Given the description of an element on the screen output the (x, y) to click on. 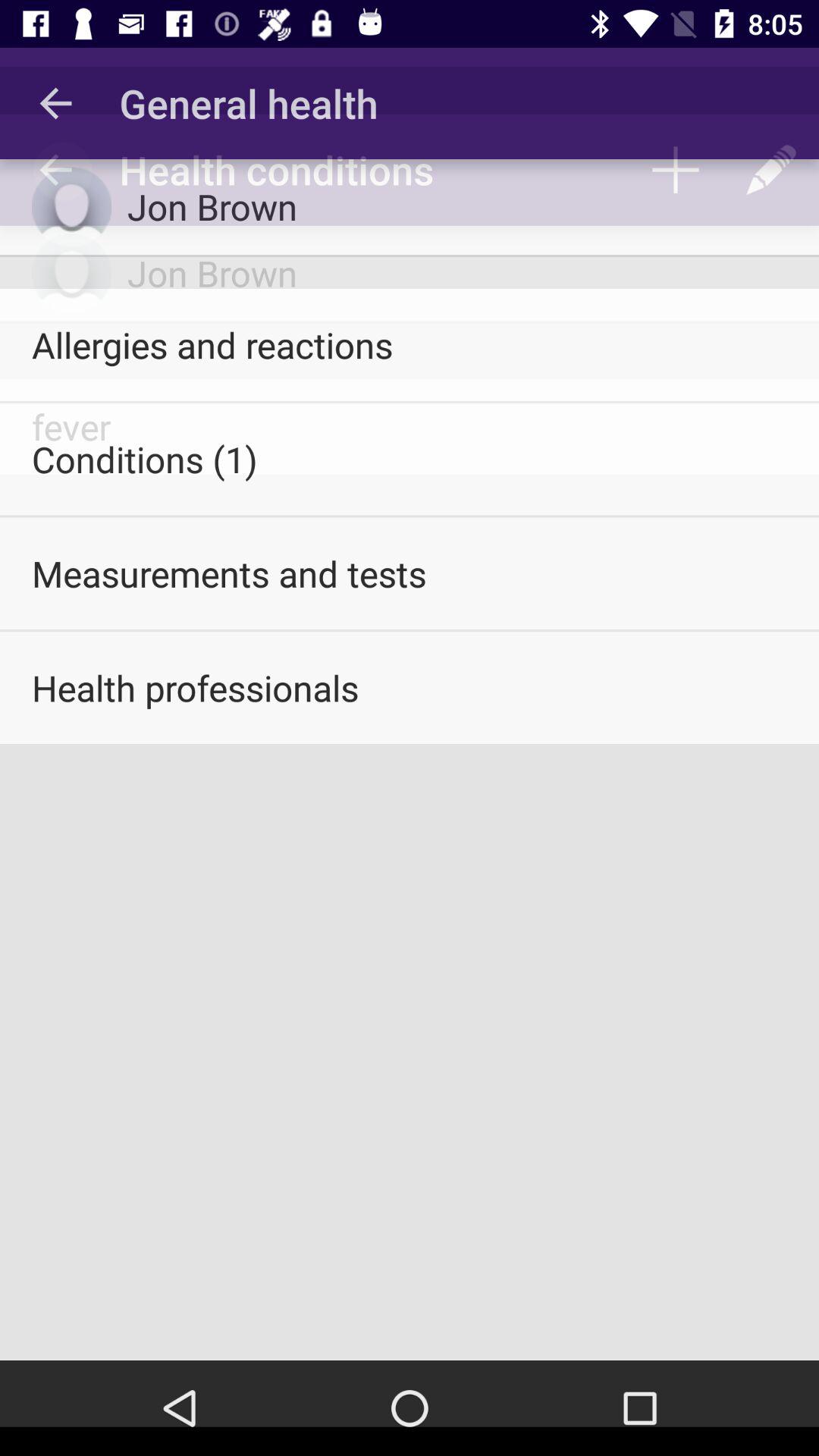
turn off the health professionals  item (409, 687)
